Given the description of an element on the screen output the (x, y) to click on. 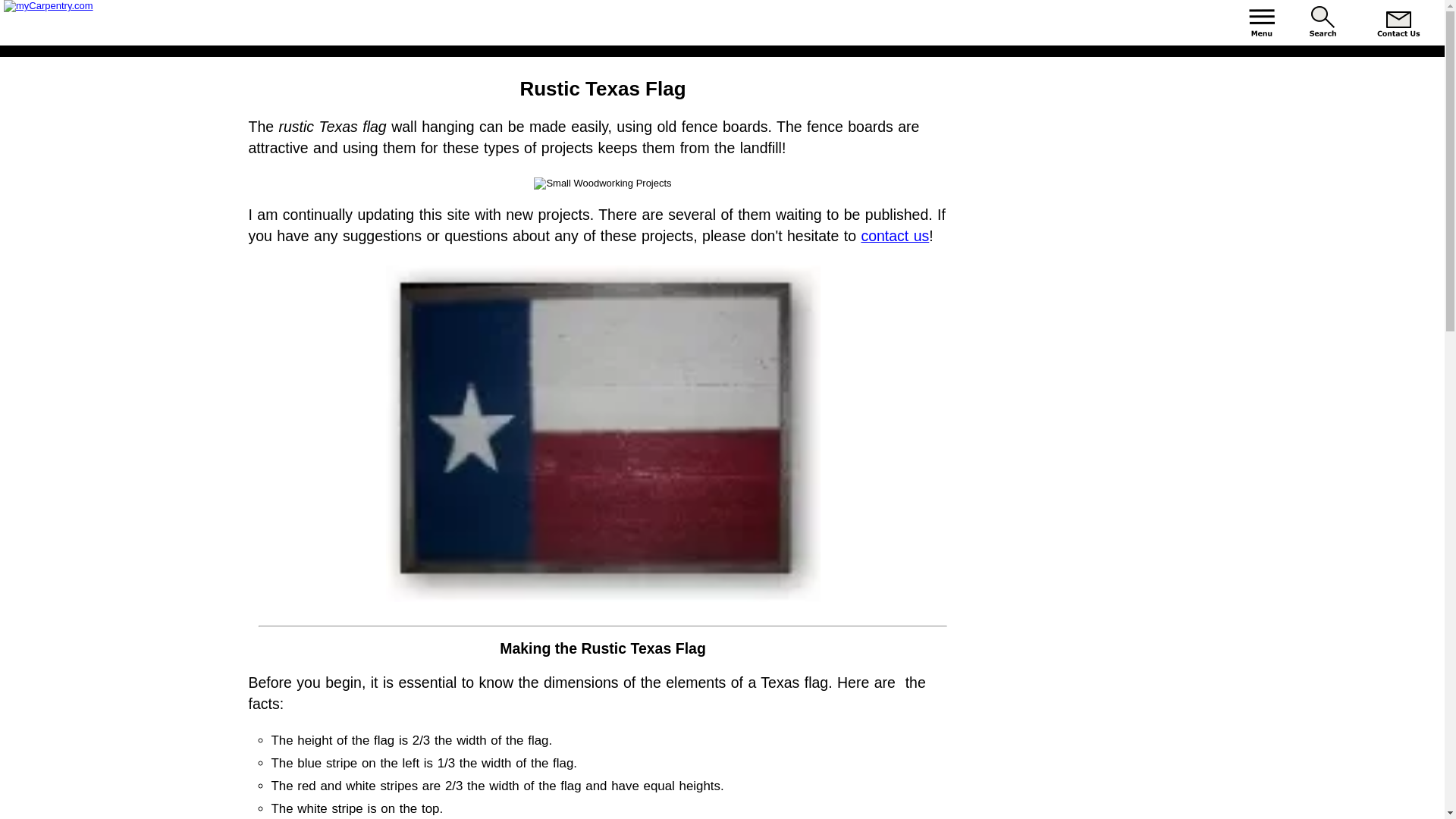
contact us (894, 235)
